Given the description of an element on the screen output the (x, y) to click on. 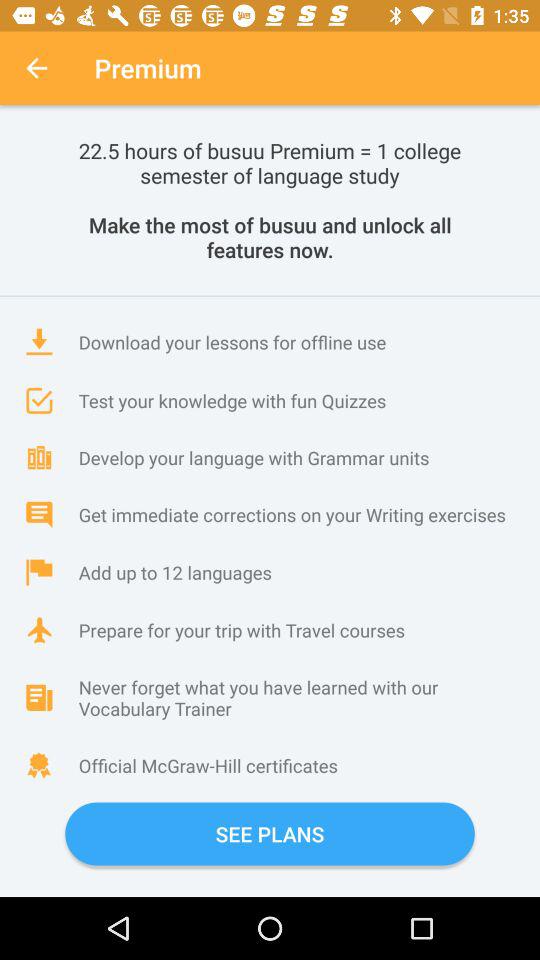
click on see plans (269, 833)
select the icon which is left to the text add up to 12 languages (39, 572)
click the symbol which is left hand side of the text offical mcfrawhill certificates (39, 765)
